Given the description of an element on the screen output the (x, y) to click on. 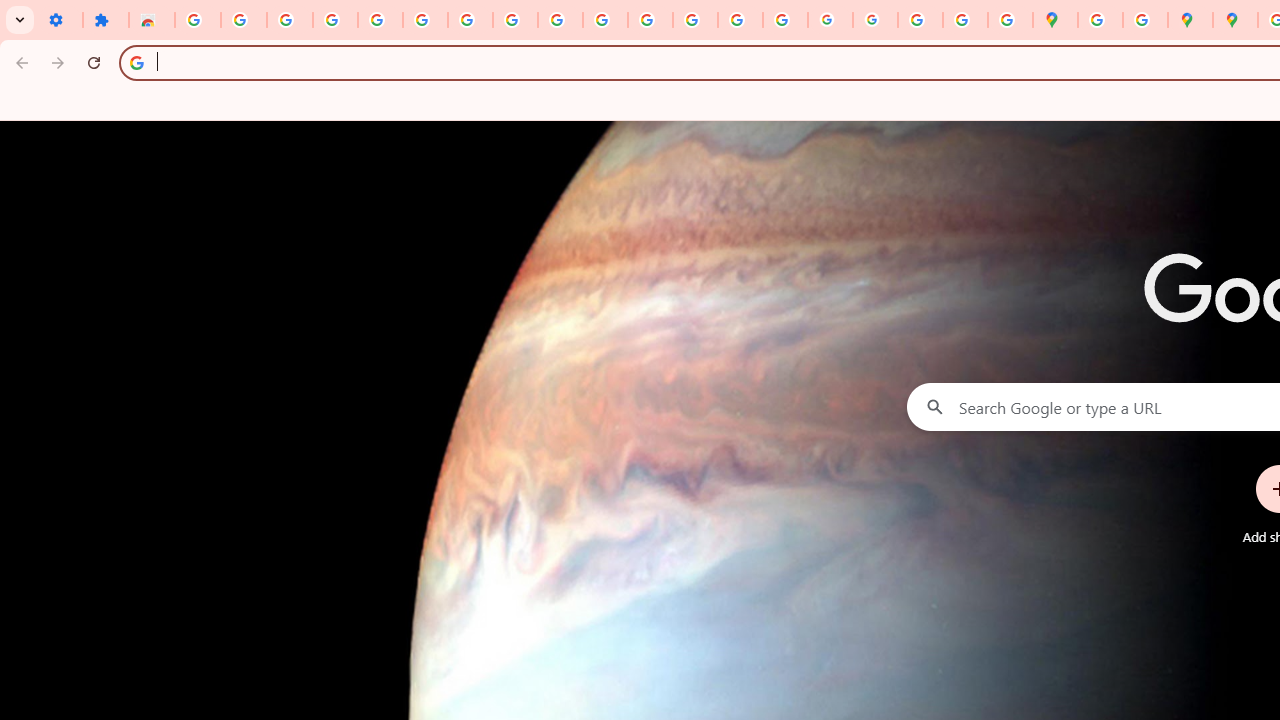
Extensions (106, 20)
Settings - On startup (60, 20)
Delete photos & videos - Computer - Google Photos Help (290, 20)
Safety in Our Products - Google Safety Center (1145, 20)
Google Maps (1055, 20)
YouTube (559, 20)
